Given the description of an element on the screen output the (x, y) to click on. 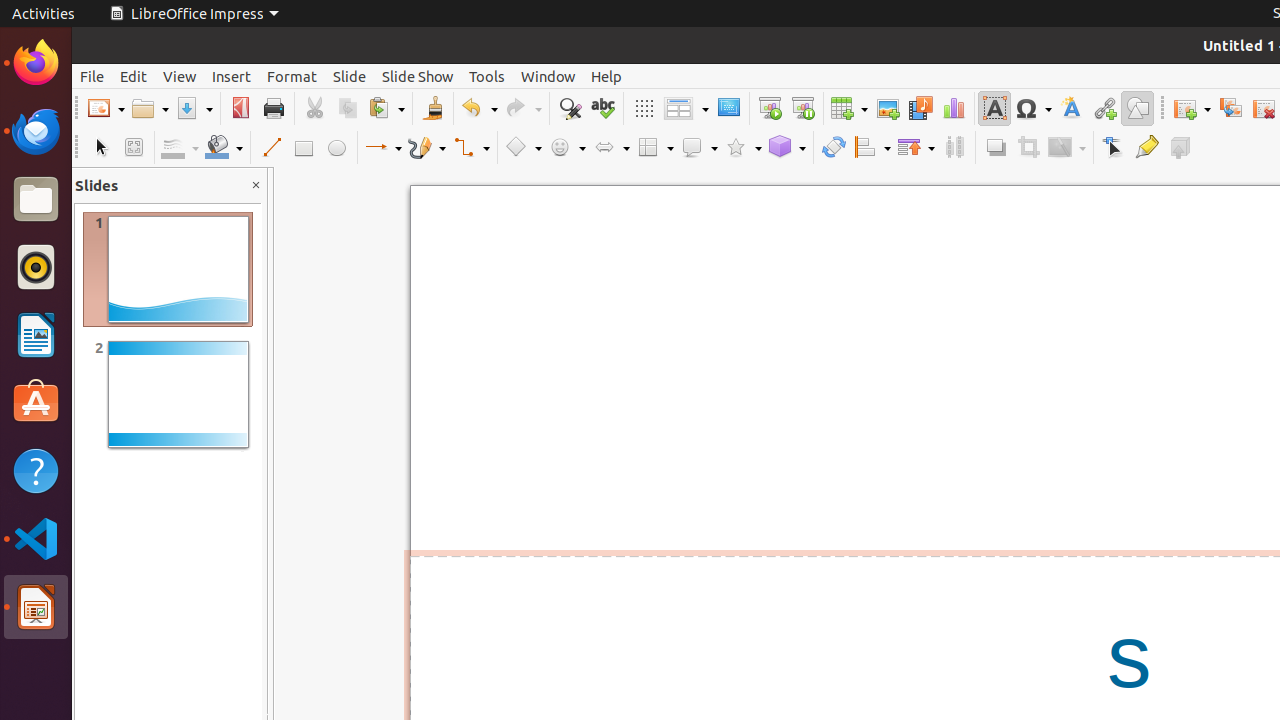
Open Element type: push-button (150, 108)
Ellipse Element type: push-button (336, 147)
Rectangle Element type: push-button (303, 147)
Line Color Element type: push-button (180, 147)
Paste Element type: push-button (386, 108)
